Given the description of an element on the screen output the (x, y) to click on. 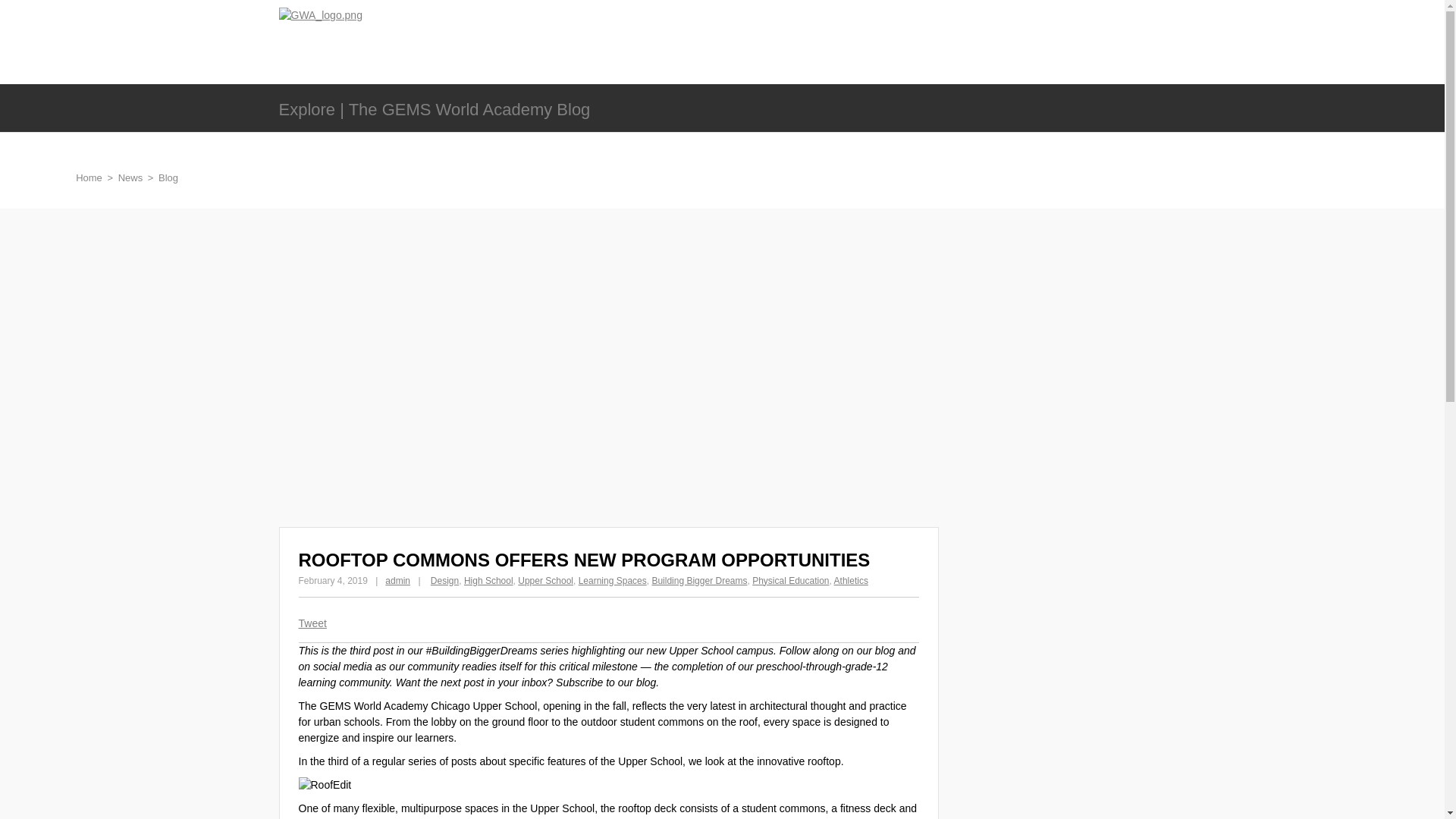
Athletics (850, 579)
High School (488, 579)
admin (397, 579)
Learning Spaces (612, 579)
Home (88, 177)
Upper School (545, 579)
News (129, 177)
Physical Education (790, 579)
Tweet (312, 623)
Design (444, 579)
